Given the description of an element on the screen output the (x, y) to click on. 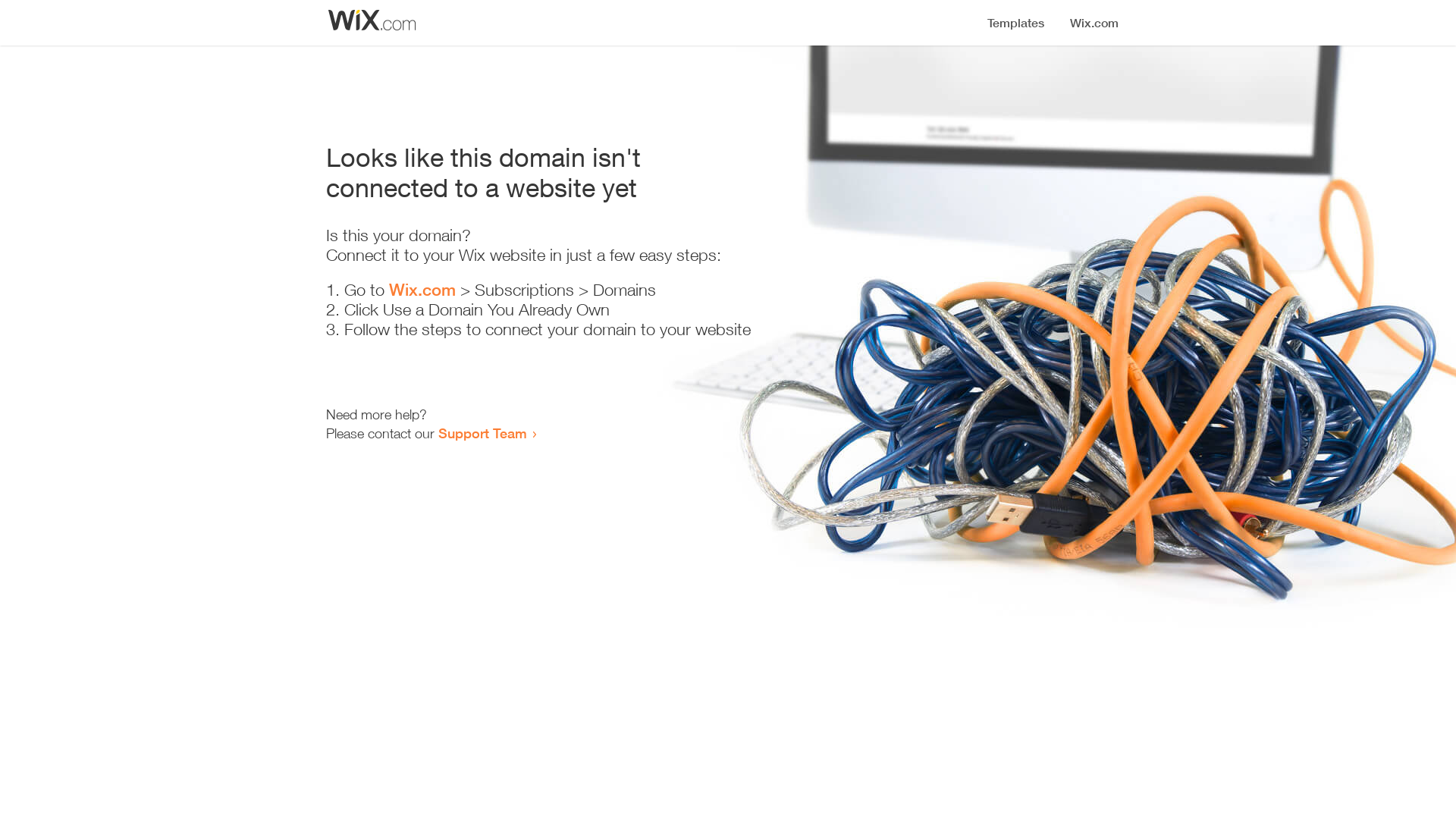
Support Team Element type: text (482, 432)
Wix.com Element type: text (422, 289)
